Given the description of an element on the screen output the (x, y) to click on. 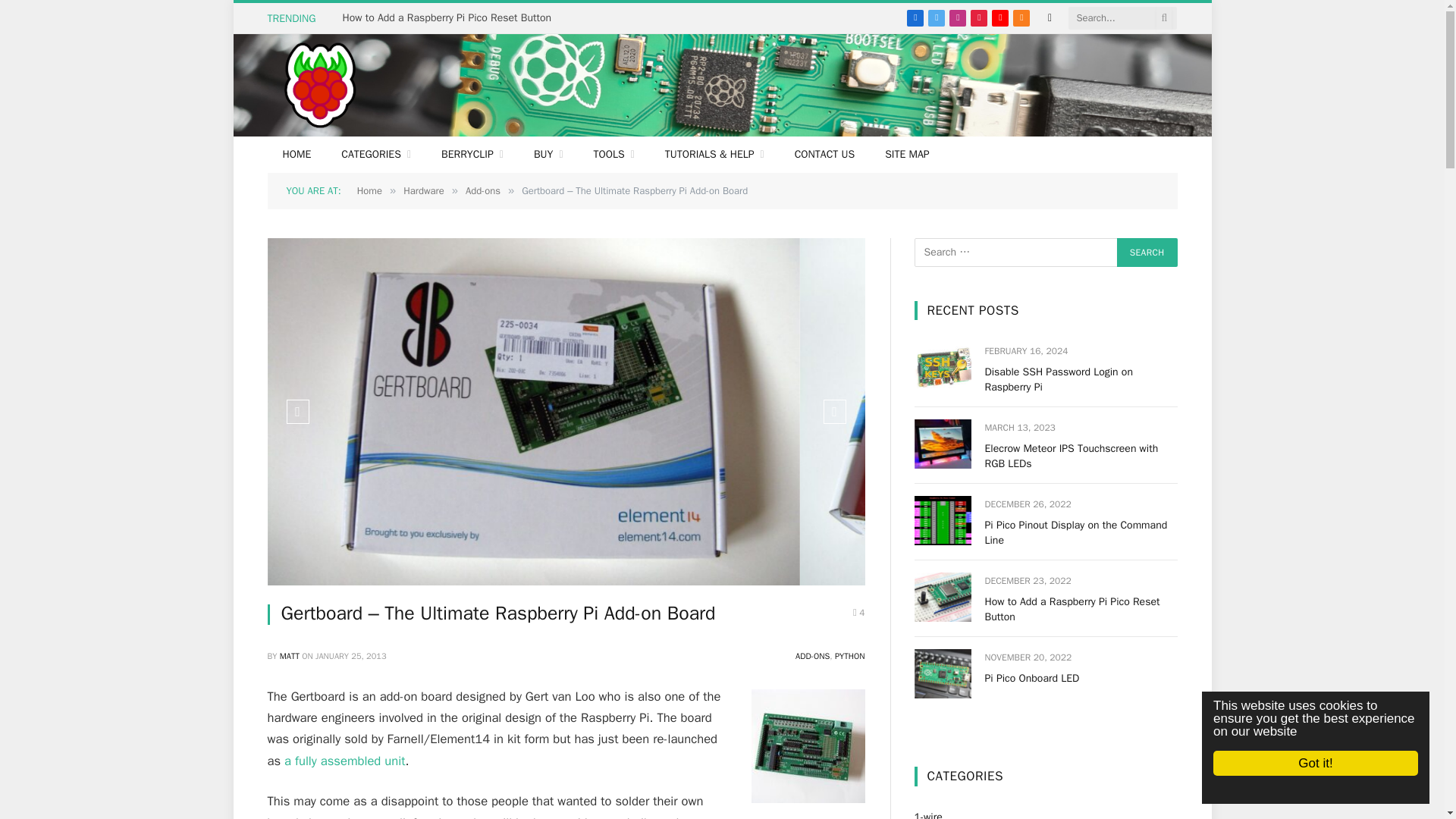
RSS (1021, 17)
Pinterest (979, 17)
2013-01-25 (350, 655)
Posts by Matt (289, 655)
Facebook (915, 17)
Cookie Consent plugin for the EU cookie law (1329, 789)
Switch to Dark Design - easier on eyes. (1049, 18)
BERRYCLIP (472, 154)
YouTube (1000, 17)
HOME (296, 154)
Got it! (1329, 763)
Search (1146, 252)
Search (1146, 252)
CATEGORIES (376, 154)
How to Add a Raspberry Pi Pico Reset Button (450, 18)
